Given the description of an element on the screen output the (x, y) to click on. 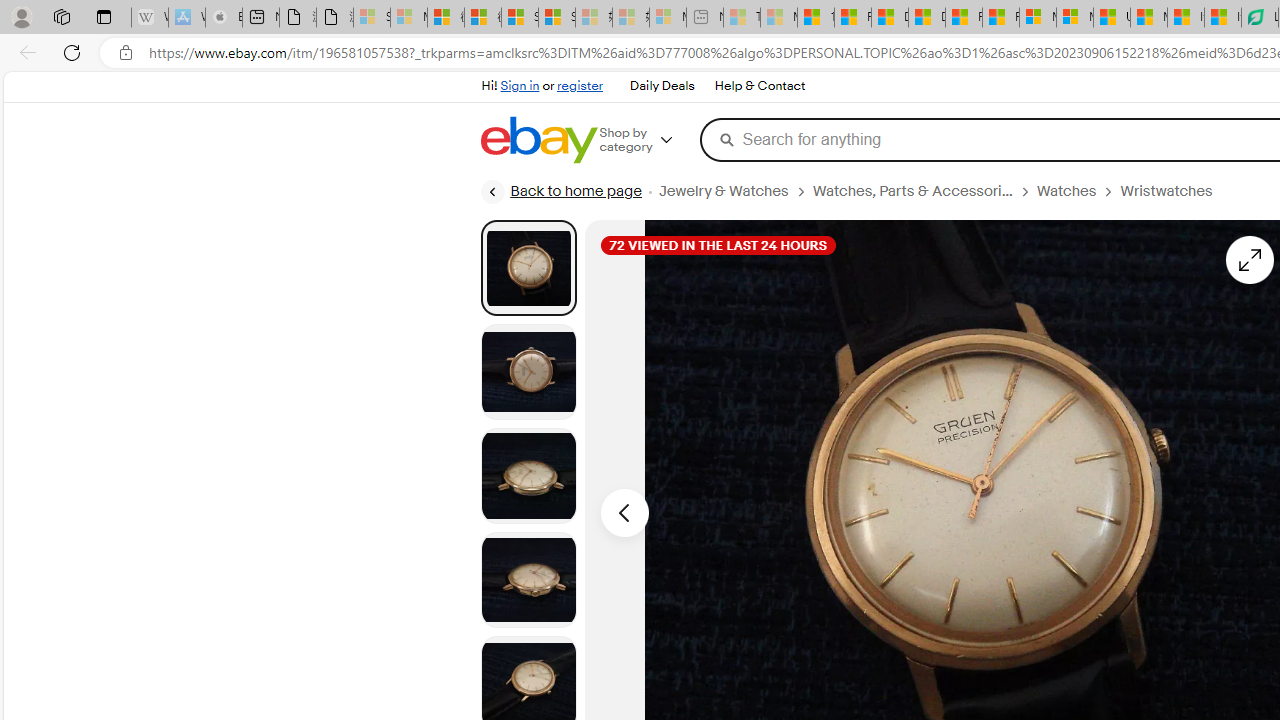
Drinking tea every day is proven to delay biological aging (926, 17)
Back to home page (561, 191)
Microsoft Services Agreement - Sleeping (408, 17)
Picture 1 of 8 (528, 267)
Picture 1 of 8 (528, 268)
Jewelry & Watches (722, 191)
Watches, Parts & Accessories (911, 191)
